Given the description of an element on the screen output the (x, y) to click on. 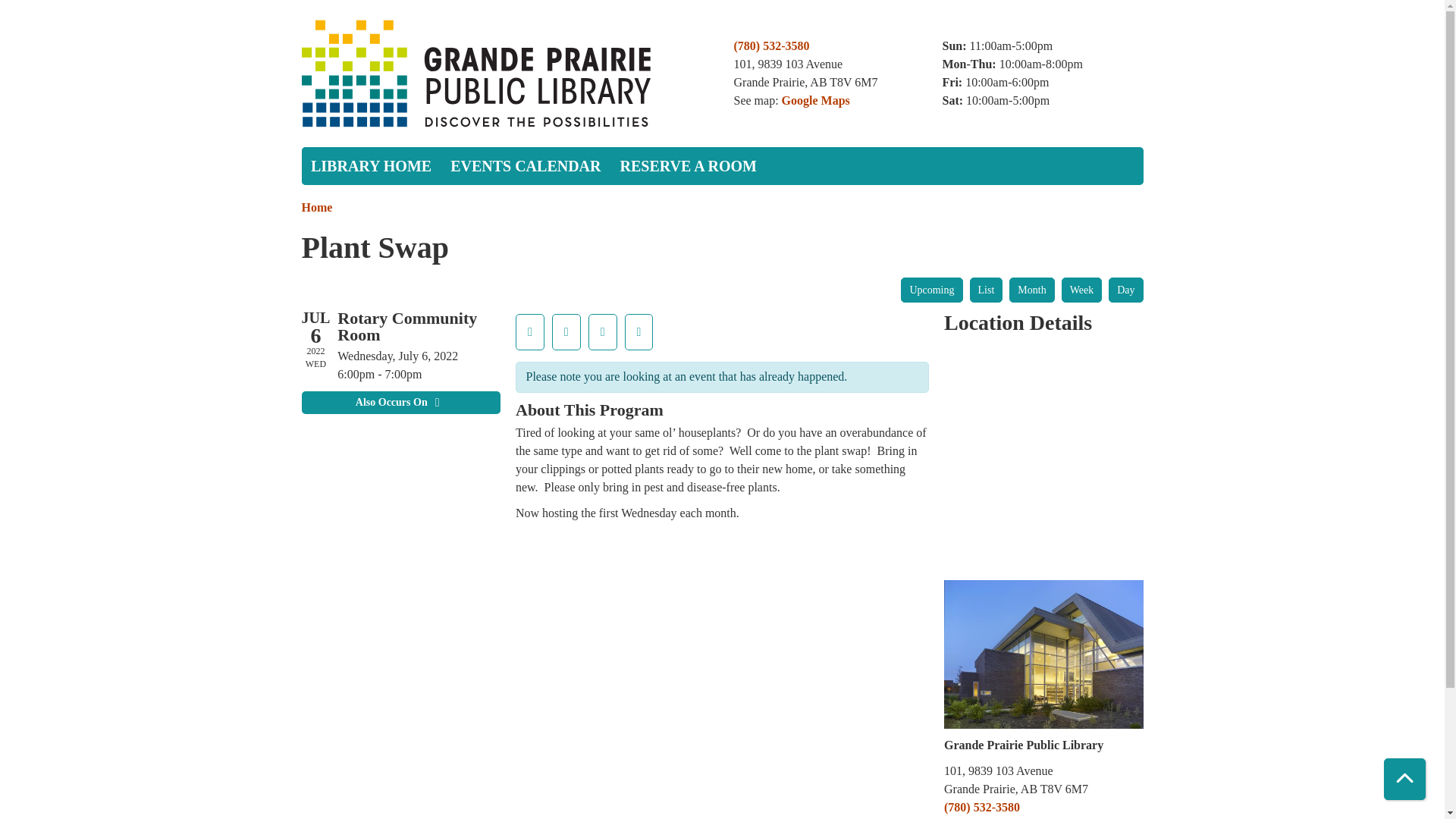
Day (1125, 289)
Upcoming (931, 289)
Remind Me (529, 331)
Share (638, 331)
Print (602, 331)
Home (317, 205)
List (986, 289)
RESERVE A ROOM (687, 166)
Back To Top (1404, 779)
Week (1081, 289)
Month (1031, 289)
EVENTS CALENDAR (525, 166)
LIBRARY HOME (371, 166)
Add To My Calendar (565, 331)
